Given the description of an element on the screen output the (x, y) to click on. 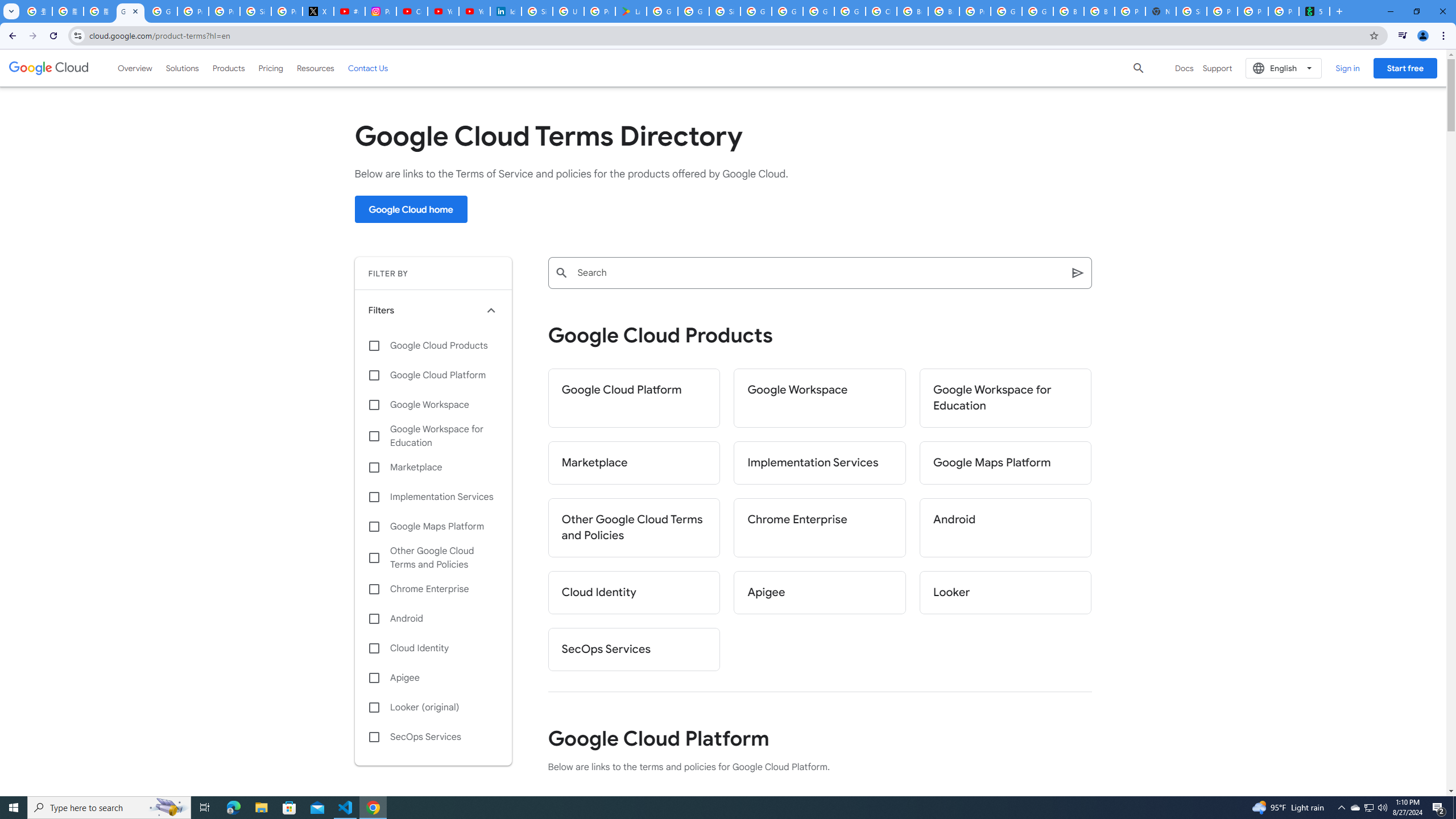
Start free (1405, 67)
Google Cloud Platform (432, 374)
Chrome Enterprise (432, 589)
Contact Us (368, 67)
Sign in - Google Accounts (255, 11)
#nbabasketballhighlights - YouTube (349, 11)
Last Shelter: Survival - Apps on Google Play (631, 11)
YouTube Culture & Trends - YouTube Top 10, 2021 (474, 11)
Google Cloud Platform (1005, 11)
